Given the description of an element on the screen output the (x, y) to click on. 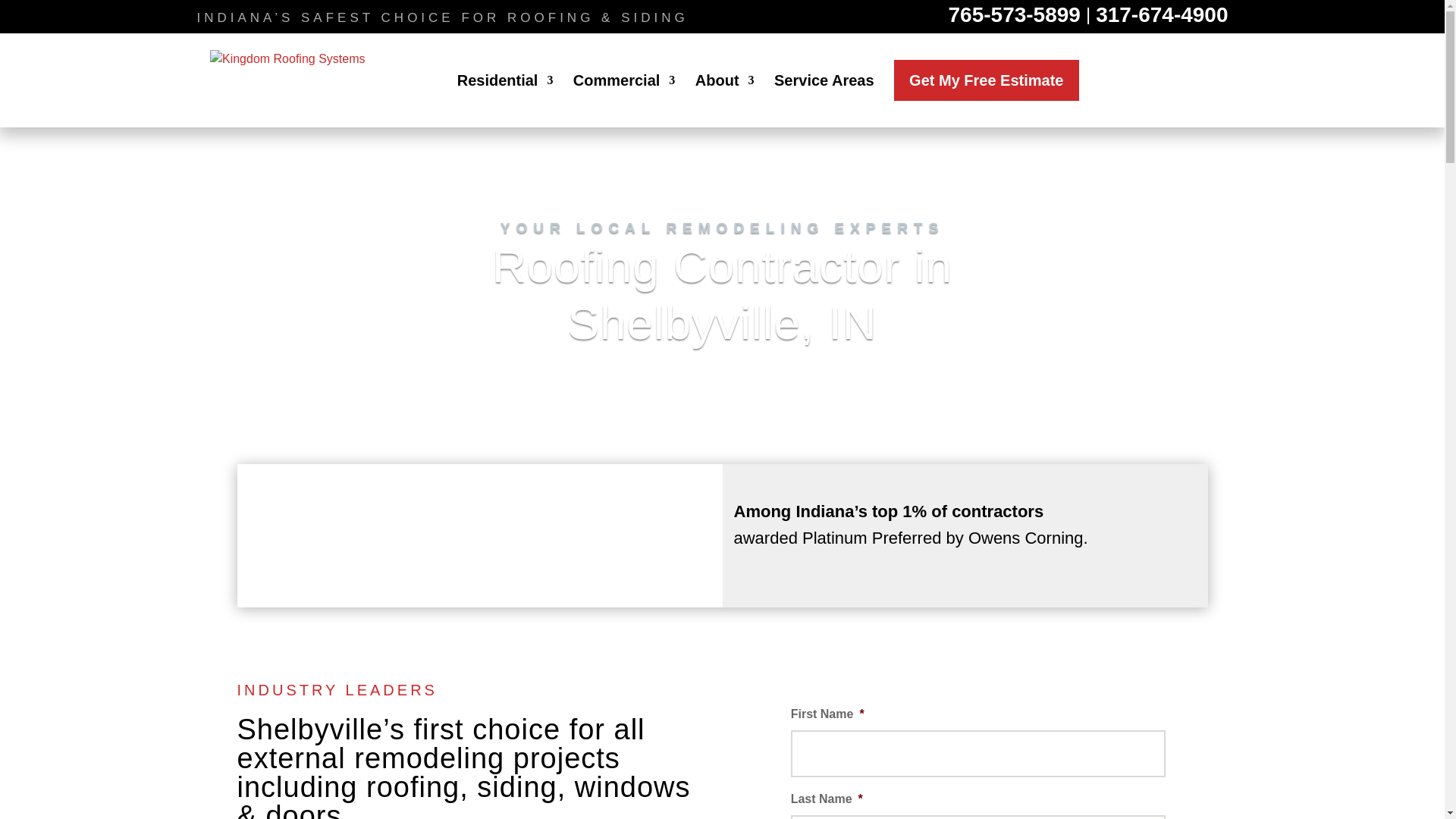
765-573-5899 (1014, 14)
Residential (505, 101)
Get My Free Estimate (985, 79)
317-674-4900 (1161, 14)
Service Areas (824, 101)
Commercial (624, 101)
About (724, 101)
